Given the description of an element on the screen output the (x, y) to click on. 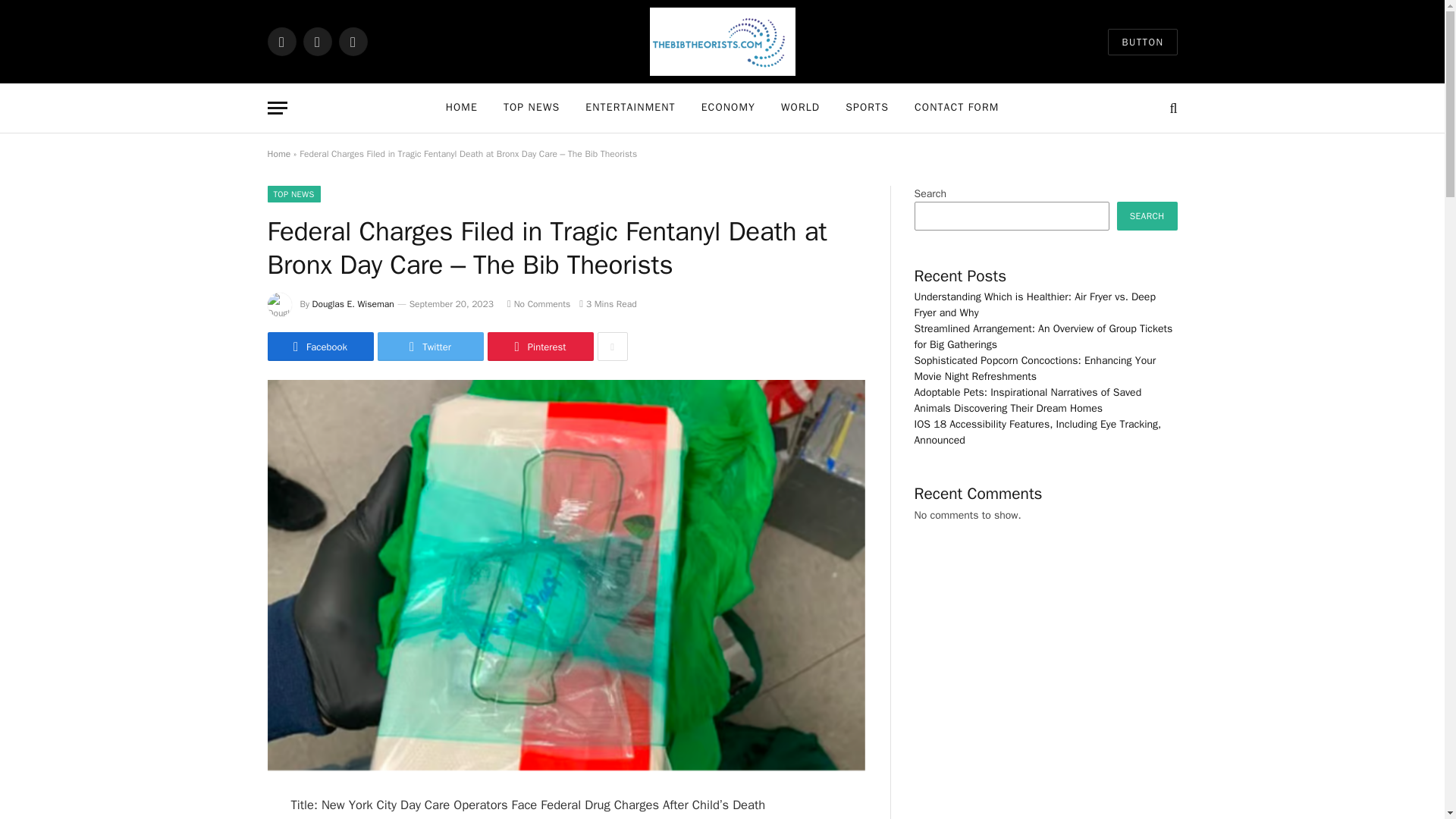
Instagram (351, 41)
The Bib Theorists (721, 41)
Share on Facebook (319, 346)
ECONOMY (728, 107)
Douglas E. Wiseman (353, 304)
Twitter (430, 346)
Share on Pinterest (539, 346)
Pinterest (539, 346)
WORLD (800, 107)
SPORTS (866, 107)
